Given the description of an element on the screen output the (x, y) to click on. 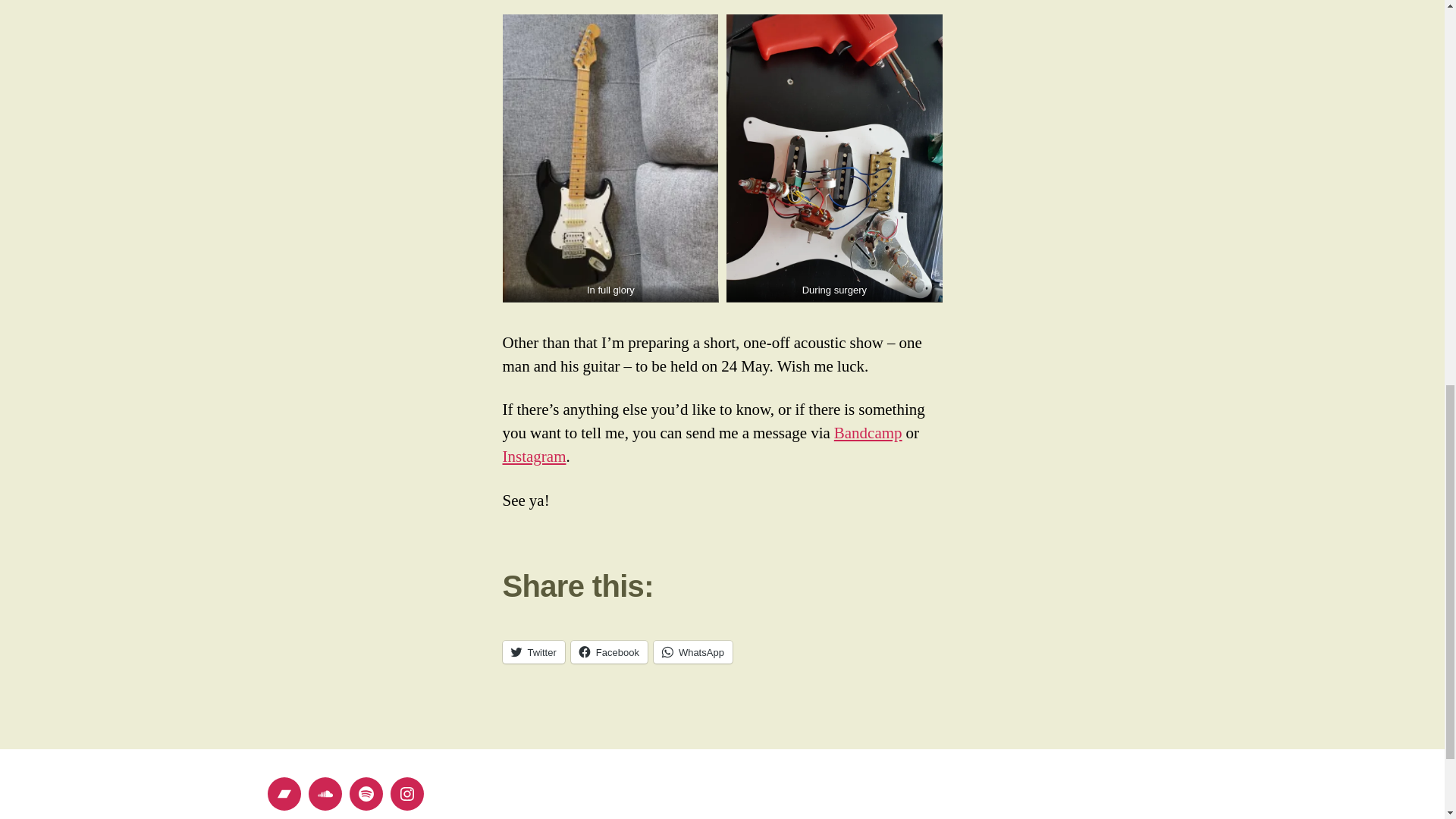
Instagram (534, 456)
Facebook (608, 651)
Click to share on WhatsApp (692, 651)
WhatsApp (692, 651)
Twitter (533, 651)
Click to share on Facebook (608, 651)
Click to share on Twitter (533, 651)
Spotify (365, 793)
Bandcamp (868, 433)
Soundcloud (323, 793)
Instagram (406, 793)
Bandcamp (282, 793)
